Given the description of an element on the screen output the (x, y) to click on. 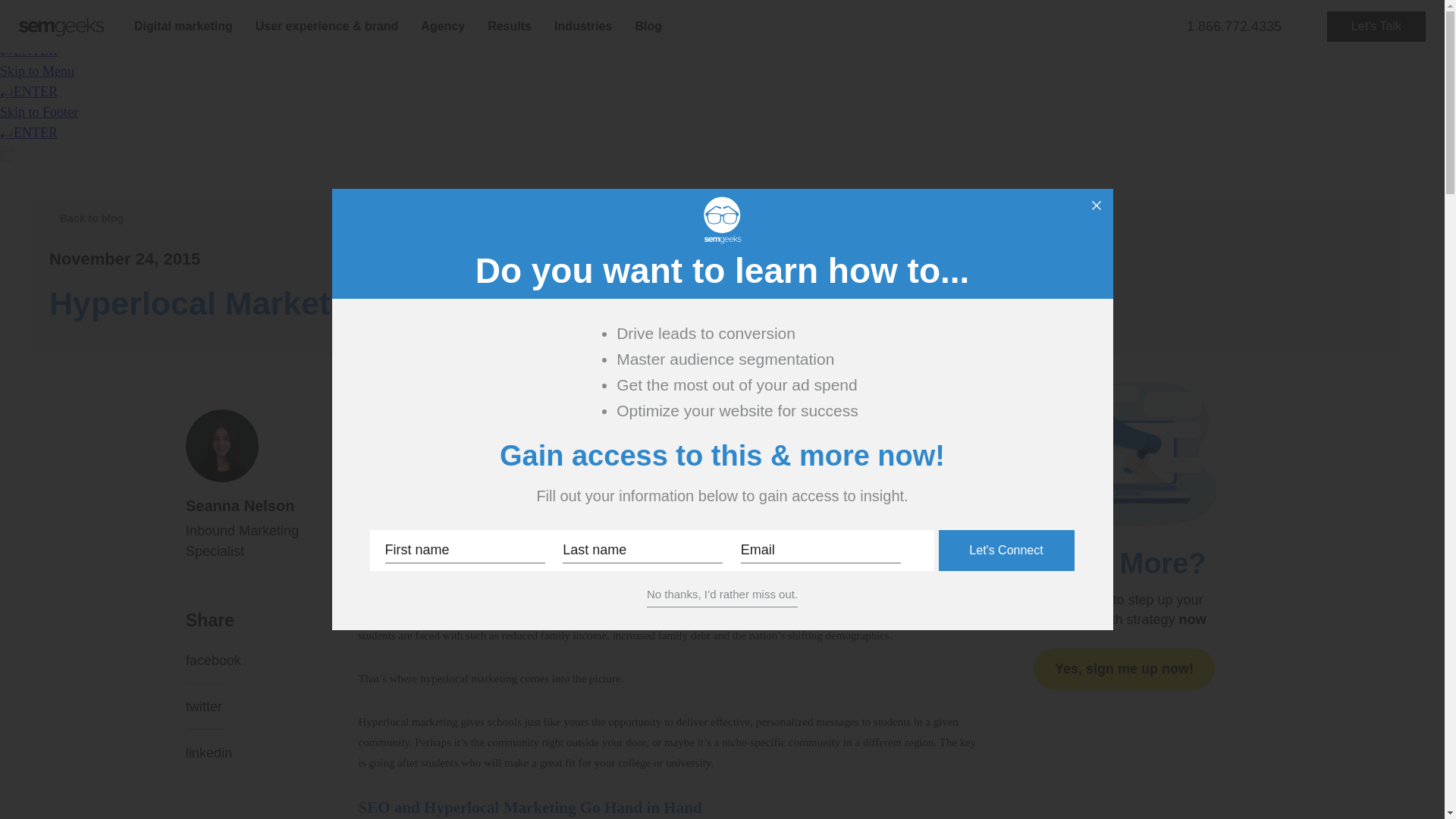
Analytics (644, 9)
Close (1096, 205)
Beach badge giveaway (563, 9)
Content (389, 9)
Digital marketing (182, 25)
Brand storytelling (414, 9)
Hospitality (672, 9)
Ecommerce (400, 9)
Team (382, 9)
Learn More (239, 15)
Finance (521, 9)
Agency (442, 25)
Results (509, 25)
Industries (582, 25)
